Given the description of an element on the screen output the (x, y) to click on. 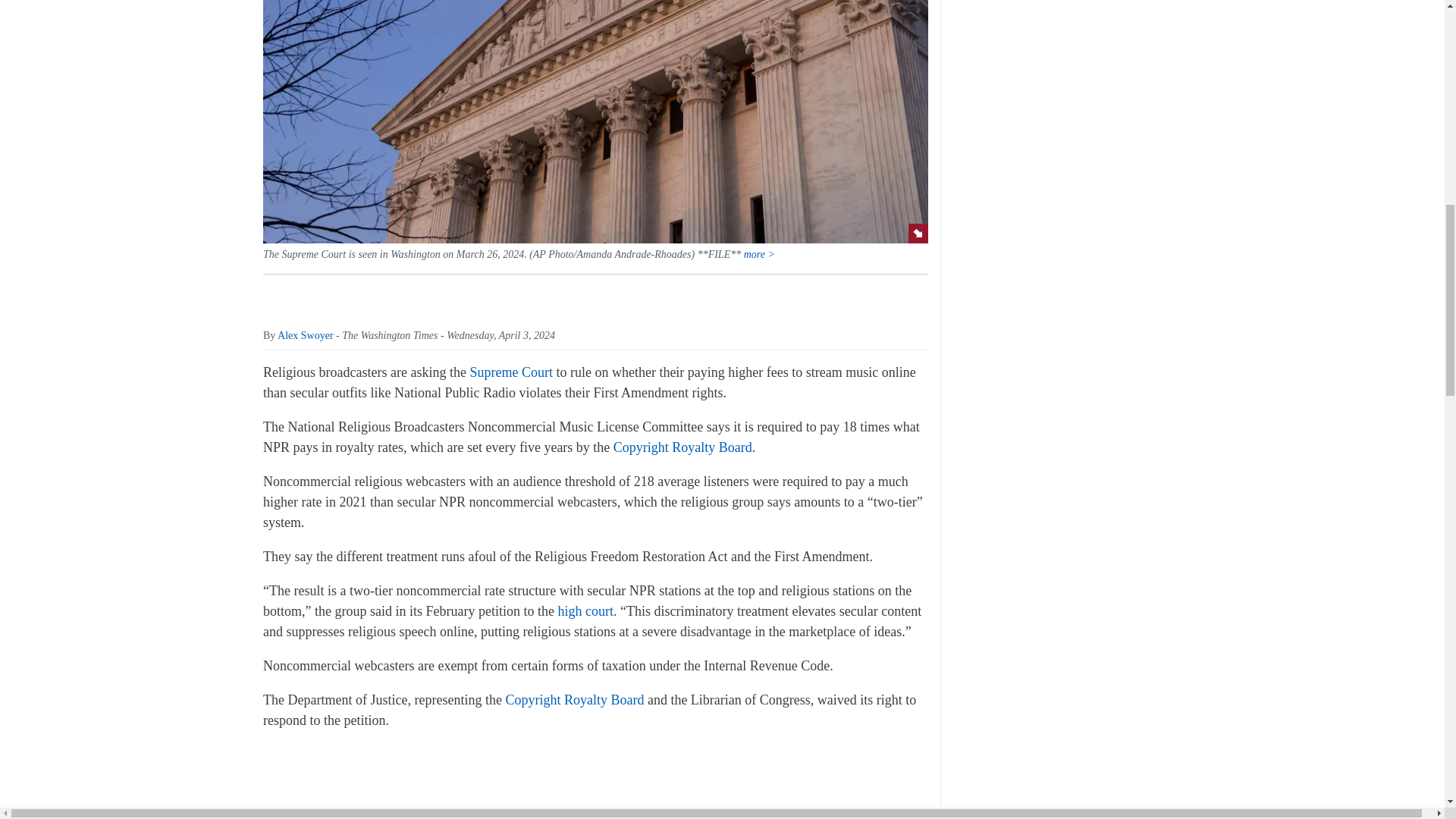
Copyright Royalty Board (682, 447)
Alex Swoyer (305, 335)
Supreme Court (510, 372)
high court (584, 611)
Copyright Royalty Board (574, 699)
